Given the description of an element on the screen output the (x, y) to click on. 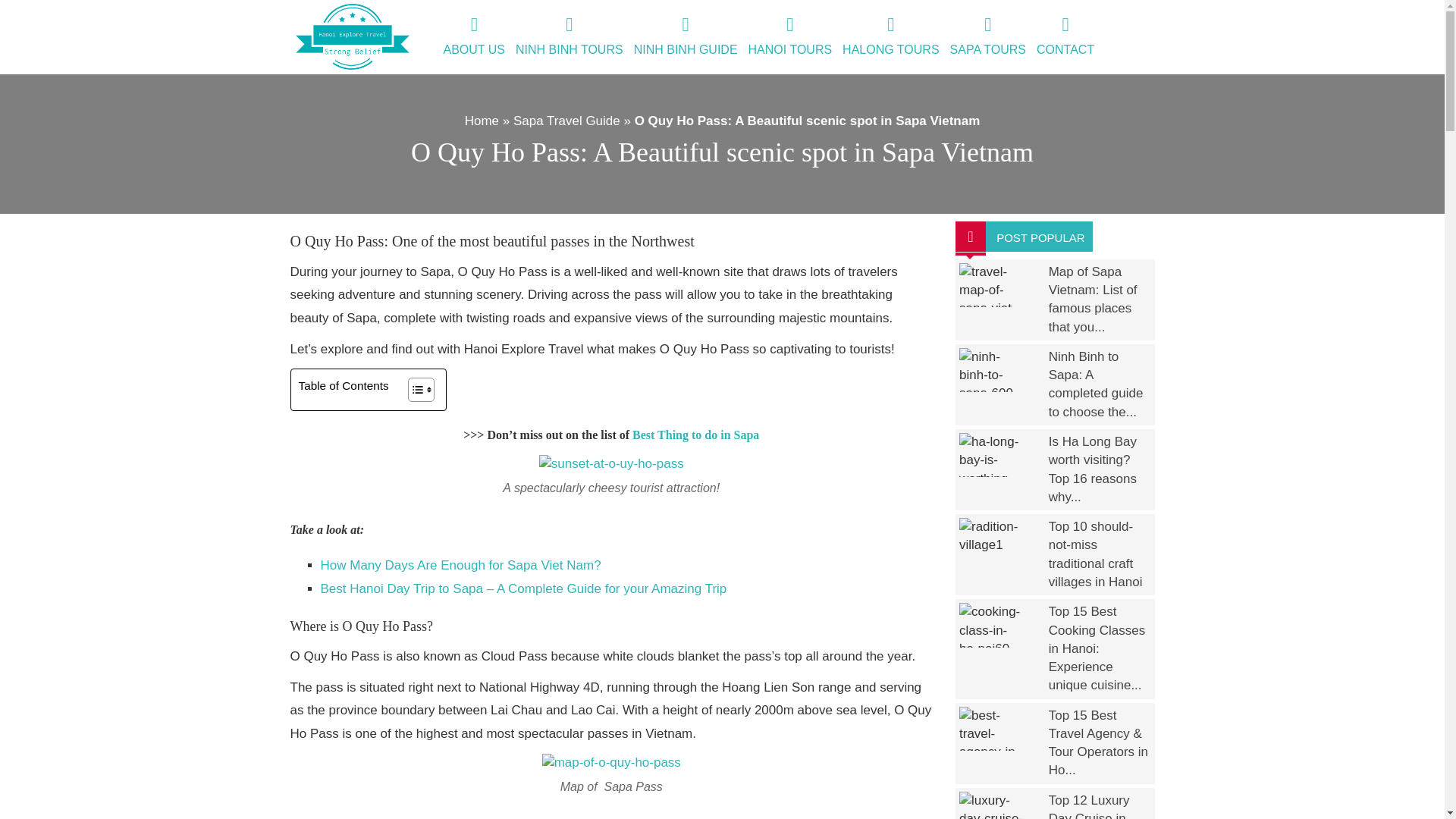
Best Thing to do in Sapa (694, 434)
ABOUT US (474, 37)
NINH BINH TOURS (569, 37)
Home (481, 120)
CONTACT (1064, 37)
NINH BINH GUIDE (685, 37)
Top 10 should-not-miss traditional craft villages in Hanoi (1095, 553)
SAPA TOURS (987, 37)
How Many Days Are Enough for Sapa Viet Nam? (459, 564)
HALONG TOURS (890, 37)
HANOI TOURS (790, 37)
Sapa Travel Guide (566, 120)
